Given the description of an element on the screen output the (x, y) to click on. 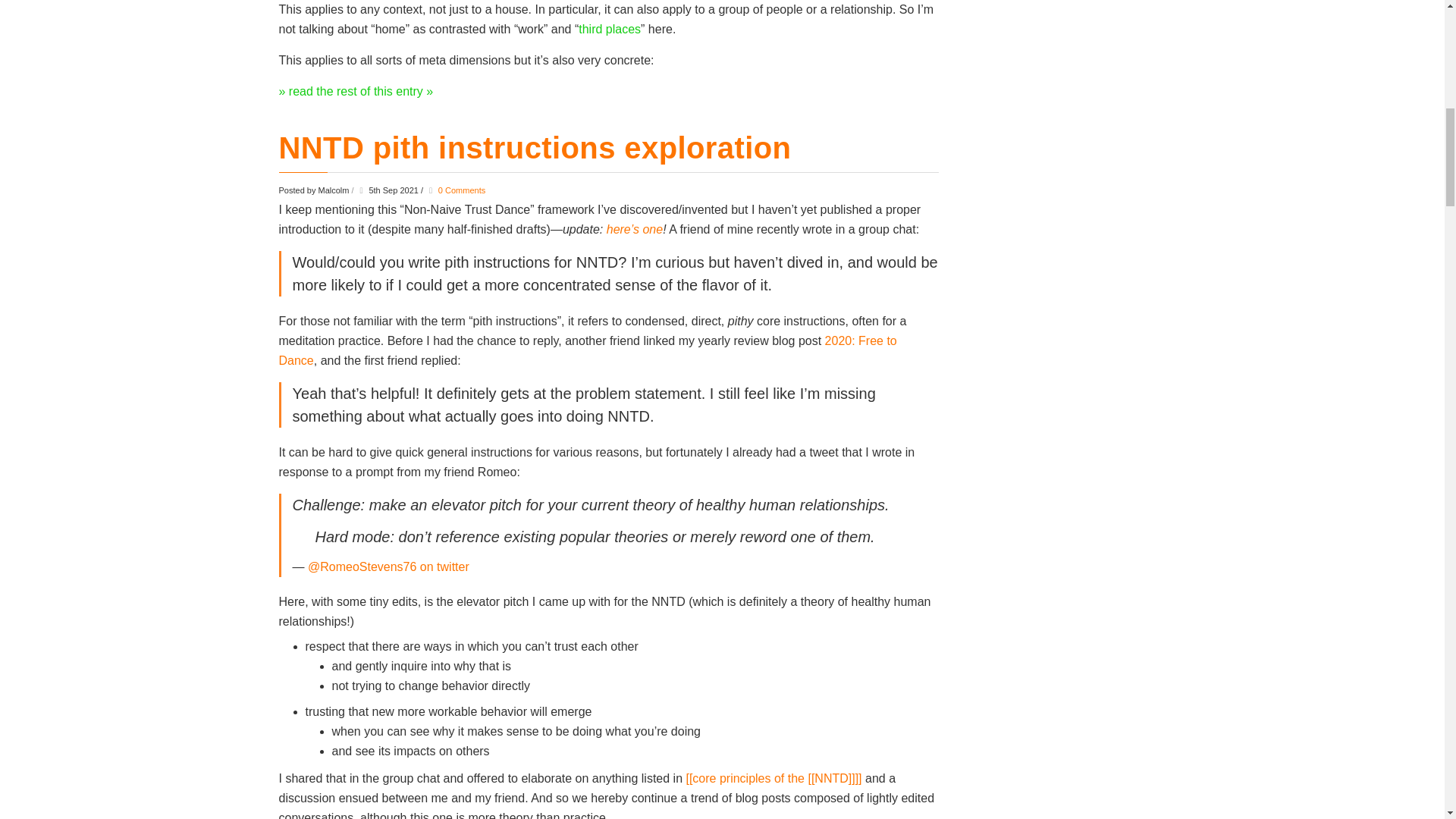
NNTD pith instructions exploration (535, 147)
third places (609, 29)
0 Comments (461, 189)
0 Comments (461, 189)
2020: Free to Dance (587, 350)
